Given the description of an element on the screen output the (x, y) to click on. 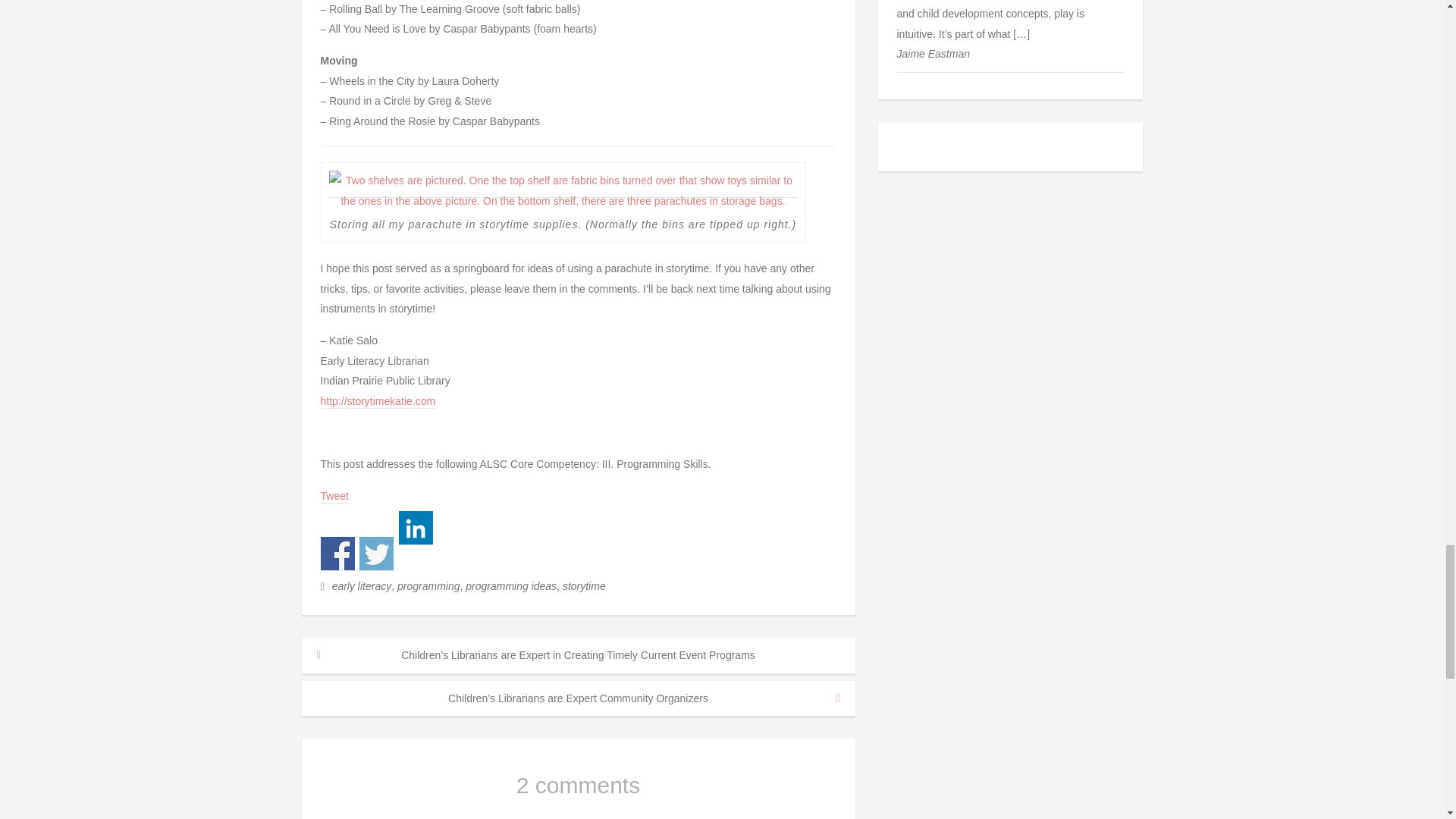
programming (428, 585)
Share on Facebook (336, 553)
early literacy (361, 585)
storytime (583, 585)
Tweet (333, 496)
programming ideas (510, 585)
Share on Linkedin (415, 528)
Share on Twitter (376, 553)
